Given the description of an element on the screen output the (x, y) to click on. 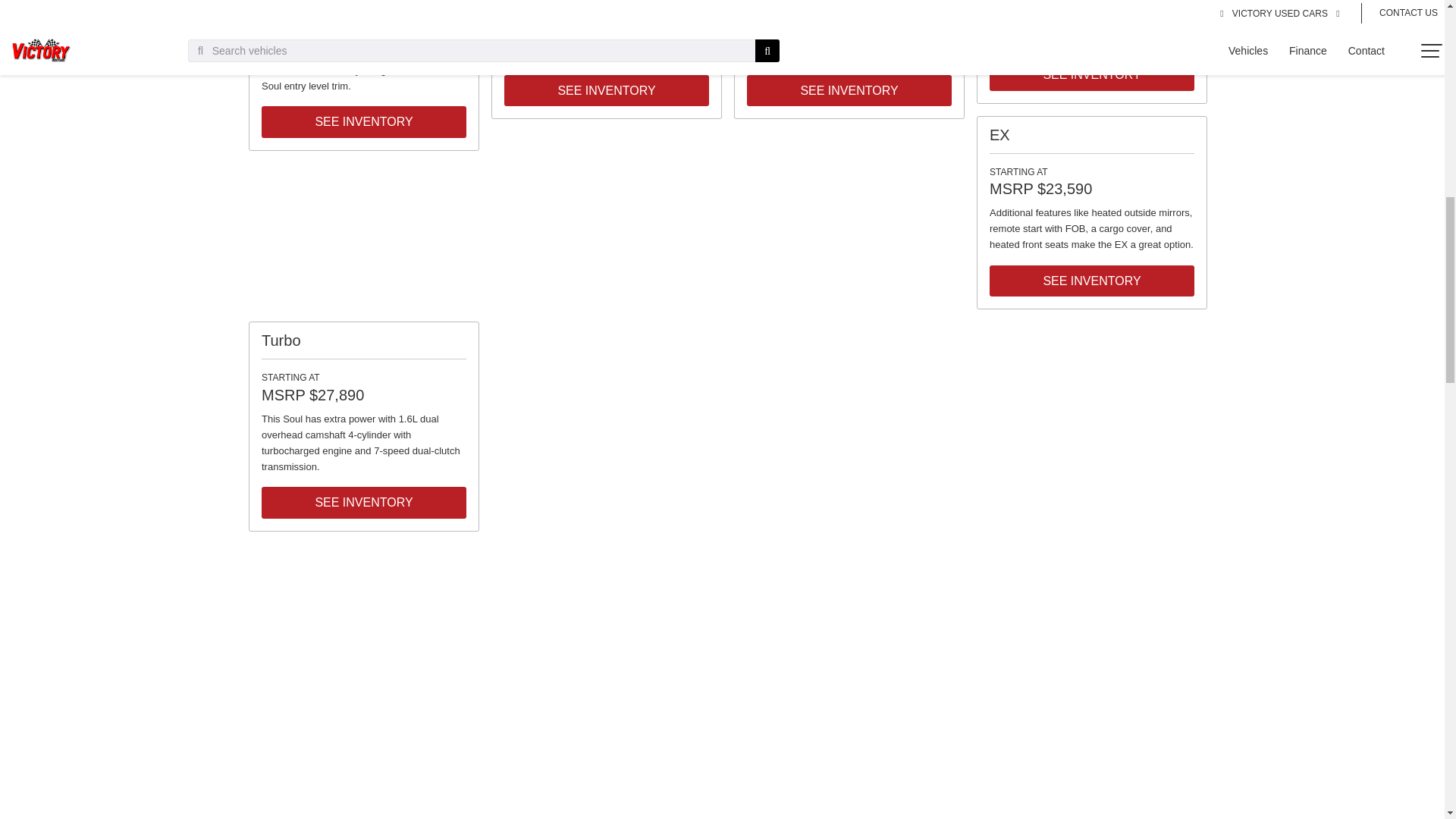
SEE INVENTORY (849, 91)
SEE INVENTORY (606, 91)
SEE INVENTORY (363, 122)
